Given the description of an element on the screen output the (x, y) to click on. 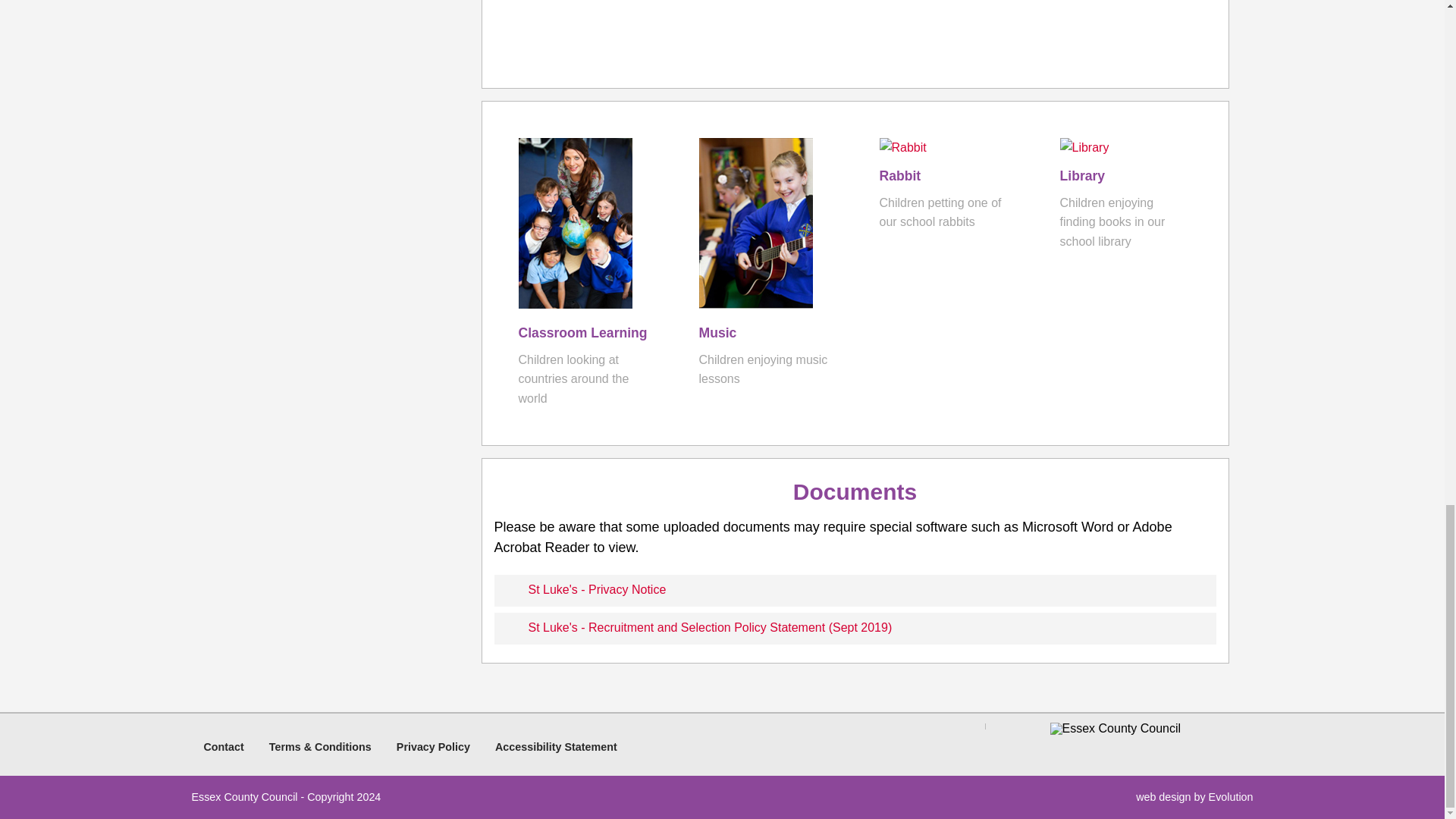
Accessibility Statement (556, 746)
Privacy Policy (433, 746)
Evolution (1230, 797)
Rabbit Children petting one of our school rabbits (945, 184)
St Luke's - Privacy Notice (855, 590)
Contact (764, 341)
Music Children enjoying music lessons (223, 746)
